Given the description of an element on the screen output the (x, y) to click on. 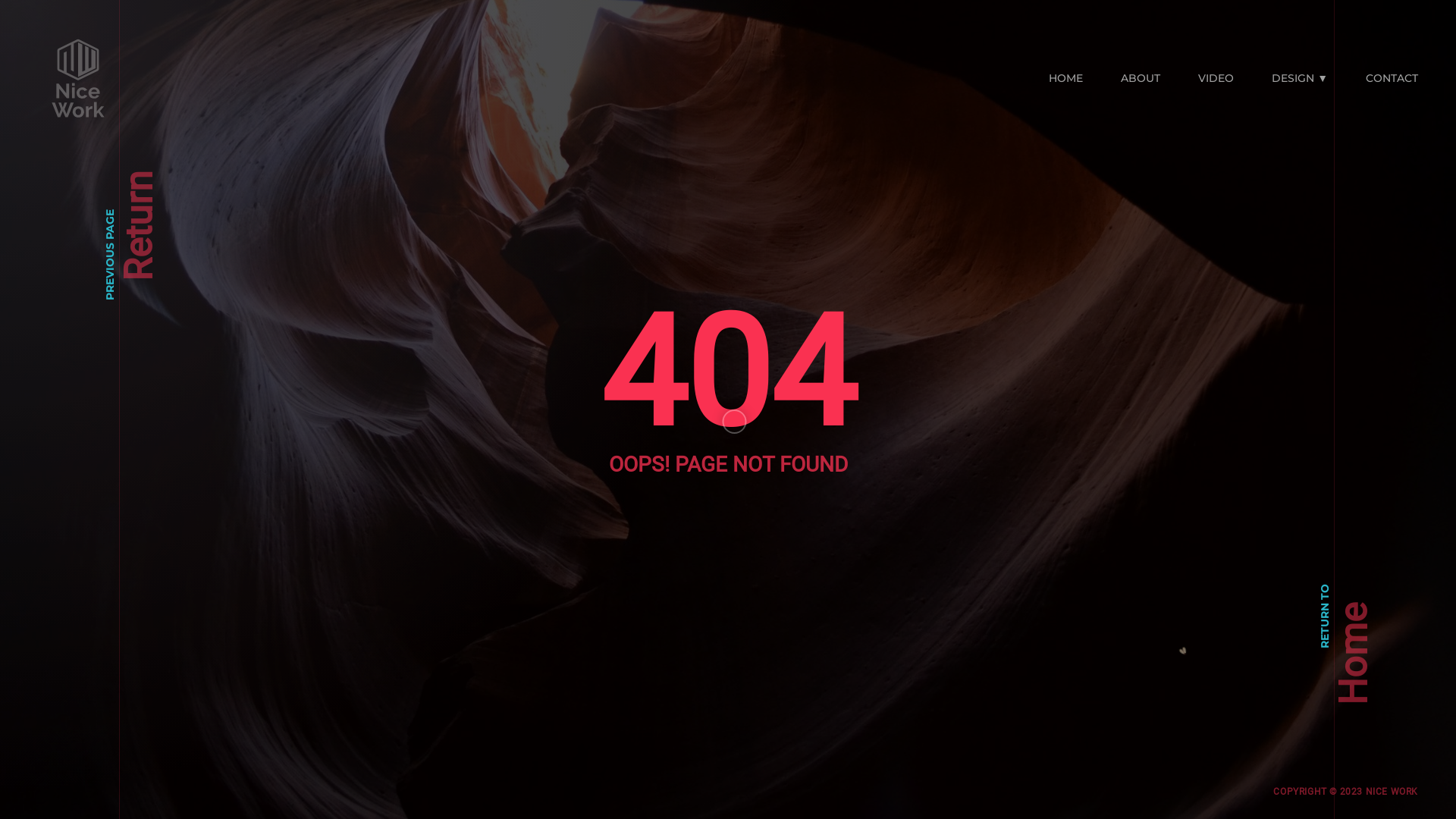
HOME Element type: text (1065, 77)
ABOUT Element type: text (1140, 77)
CONTACT Element type: text (1391, 77)
VIDEO Element type: text (1215, 77)
